Given the description of an element on the screen output the (x, y) to click on. 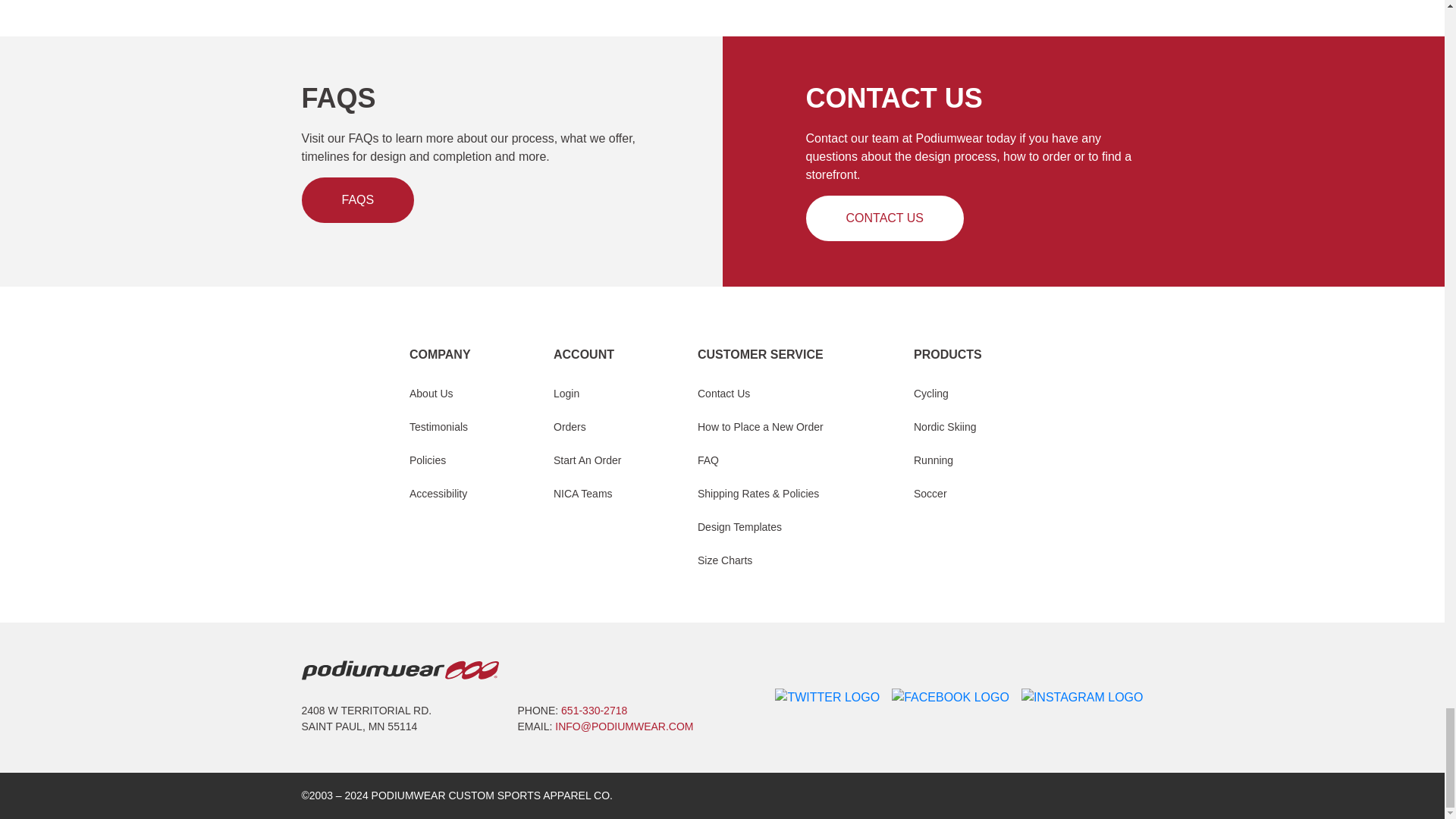
FAQS (357, 199)
Testimonials (438, 426)
CONTACT US (884, 217)
About Us (430, 393)
